Given the description of an element on the screen output the (x, y) to click on. 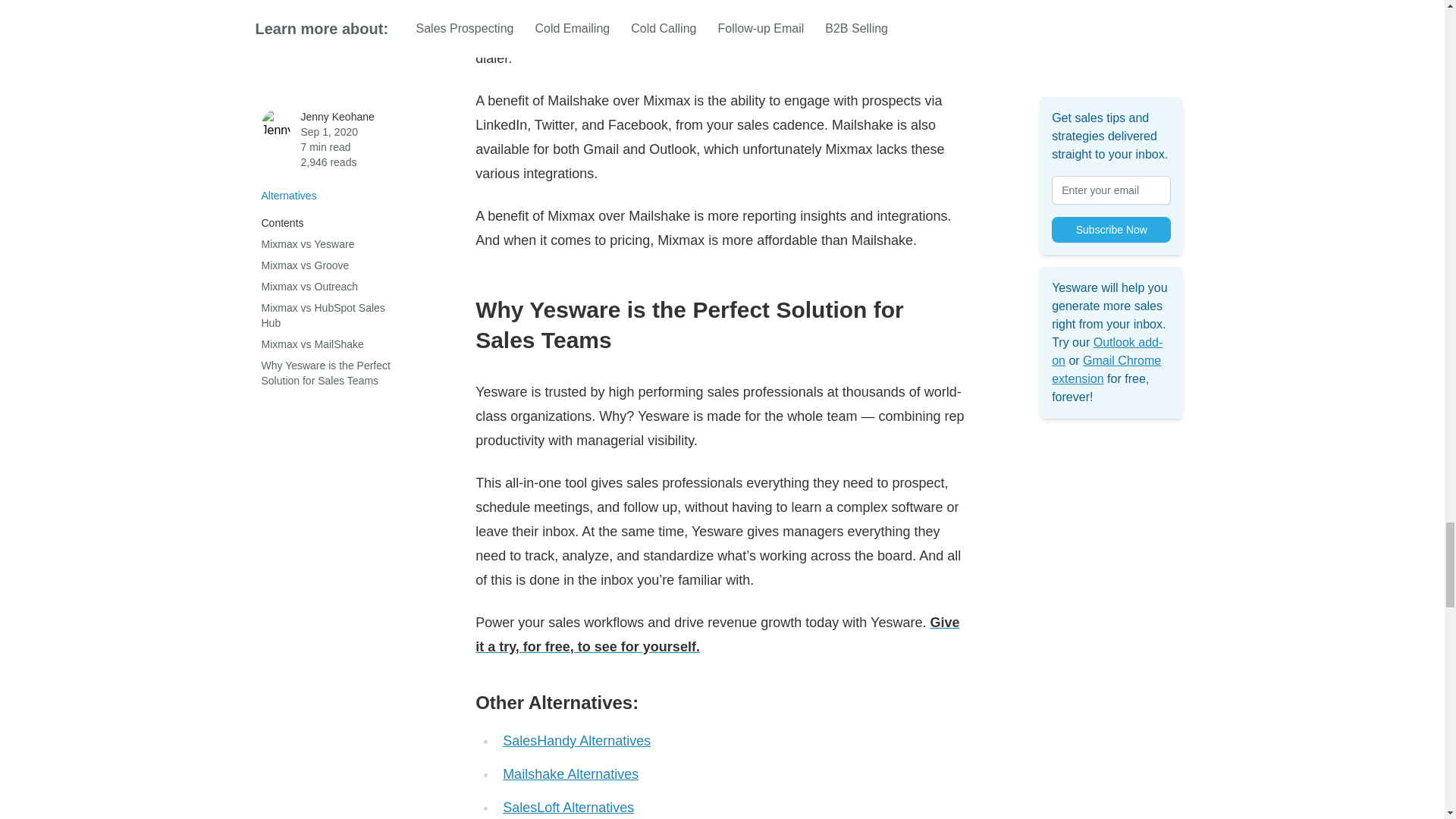
SalesHandy Alternatives (576, 740)
Give it a try, for free, to see for yourself. (717, 634)
SalesLoft Alternatives (567, 807)
Mailshake Alternatives (570, 774)
